Given the description of an element on the screen output the (x, y) to click on. 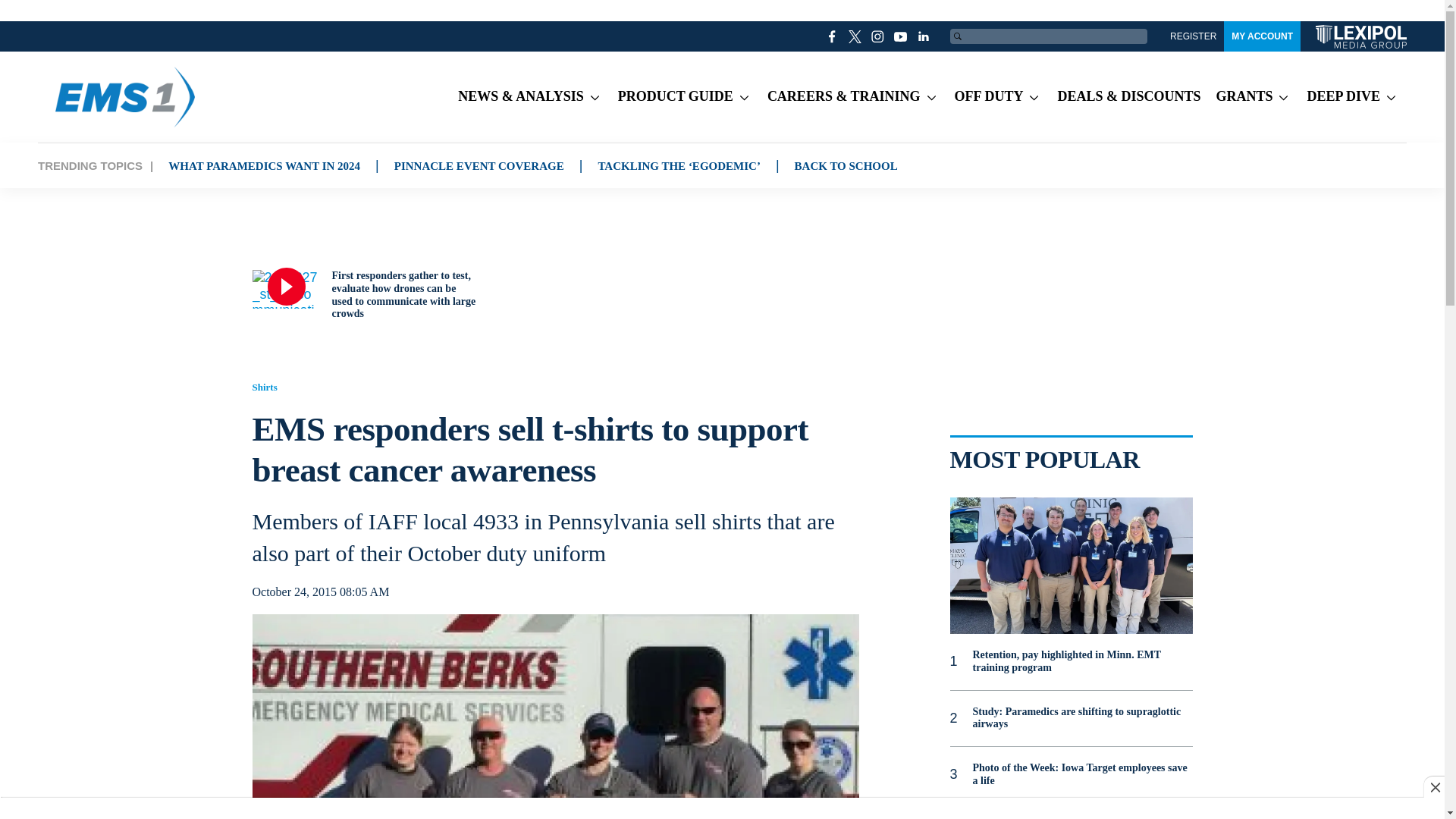
REGISTER (1192, 36)
instagram (877, 36)
linkedin (923, 36)
MY ACCOUNT (1262, 36)
facebook (832, 36)
twitter (855, 36)
youtube (900, 36)
